Given the description of an element on the screen output the (x, y) to click on. 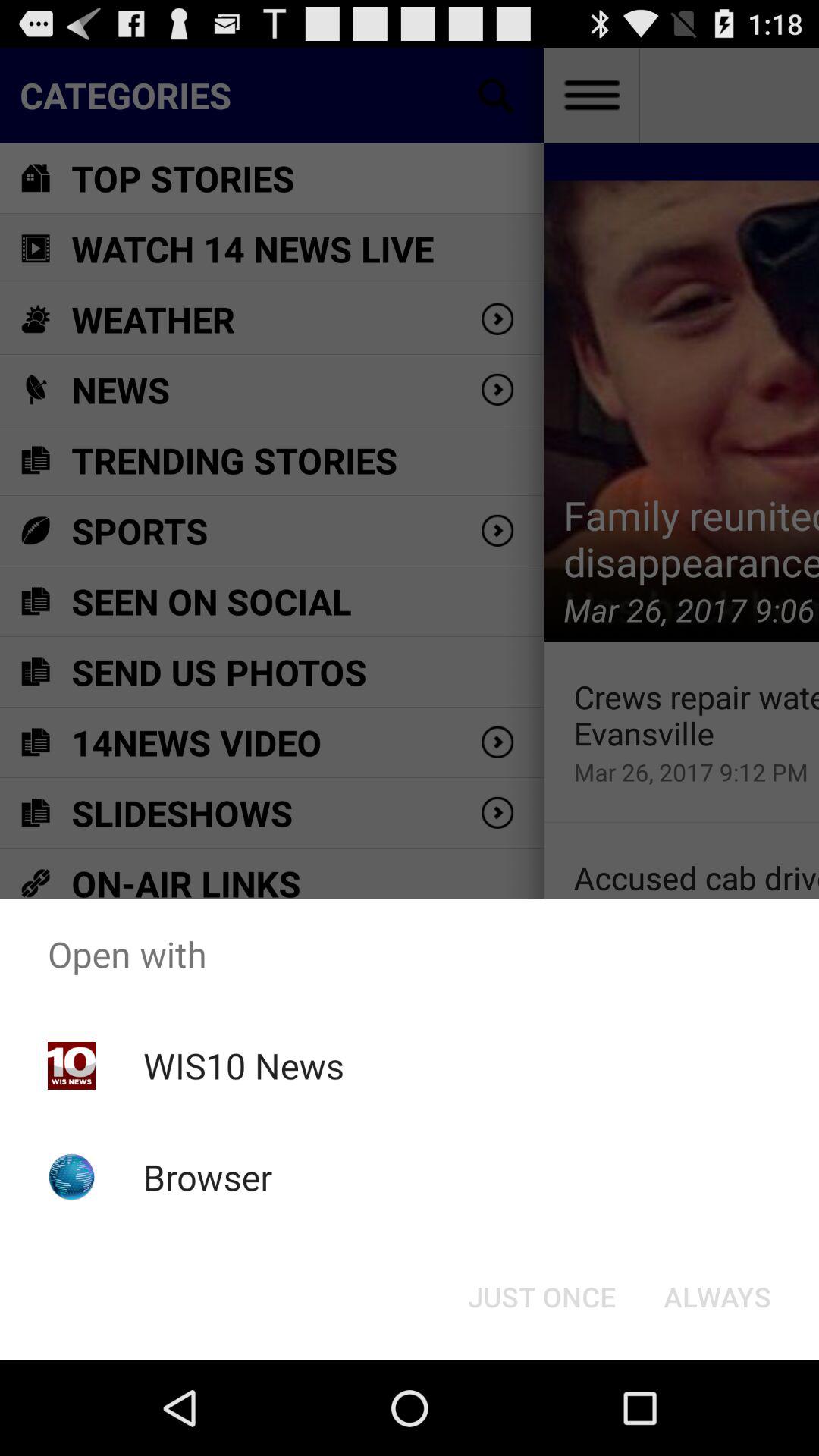
open icon to the right of just once button (717, 1296)
